Given the description of an element on the screen output the (x, y) to click on. 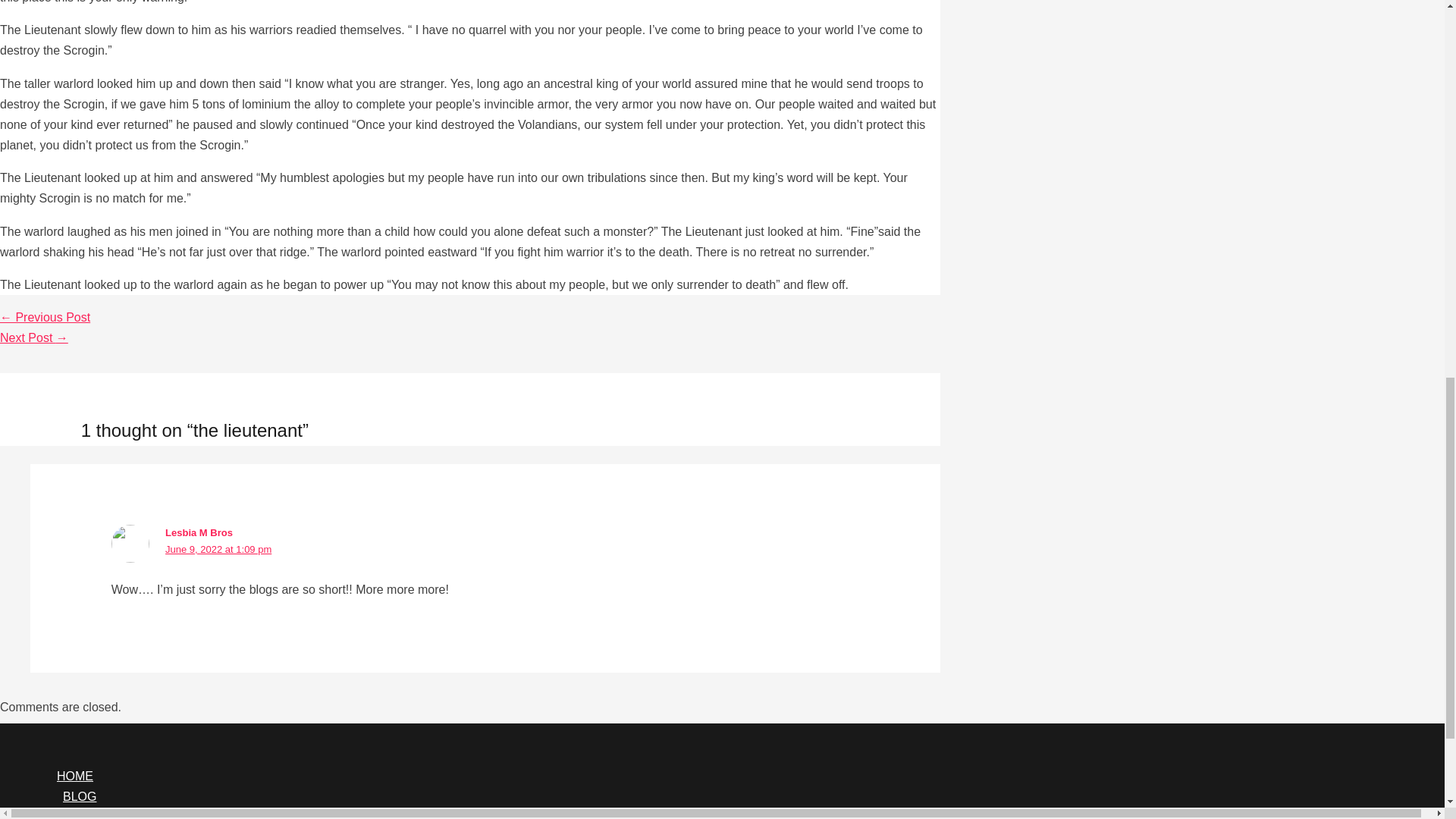
BLOG (737, 796)
HOME (737, 775)
June 9, 2022 at 1:09 pm (217, 549)
